Given the description of an element on the screen output the (x, y) to click on. 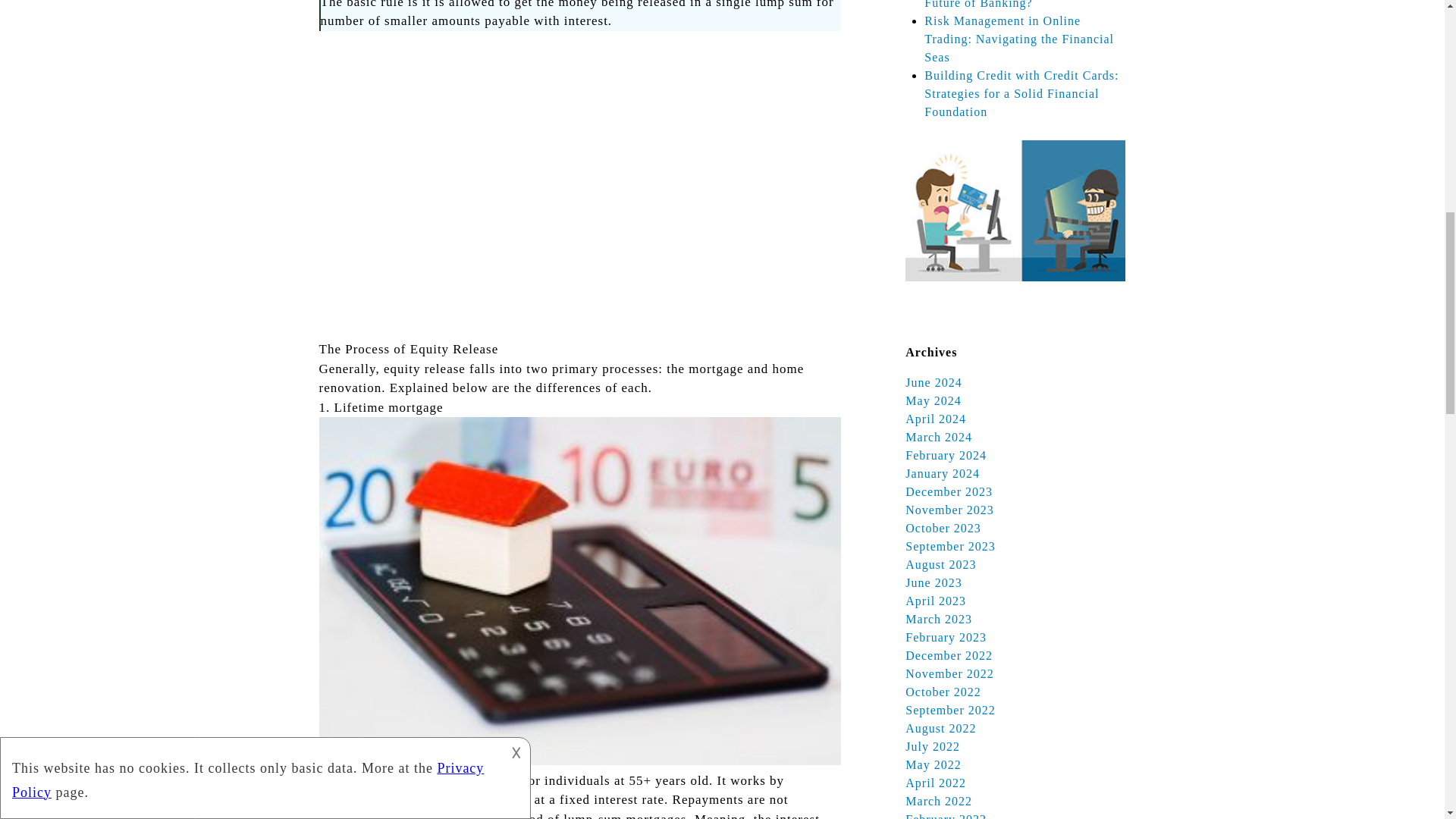
November 2023 (949, 509)
March 2024 (938, 436)
January 2024 (942, 472)
March 2023 (938, 618)
February 2023 (946, 636)
June 2024 (932, 382)
September 2023 (949, 545)
October 2023 (943, 527)
December 2023 (948, 491)
May 2024 (932, 400)
August 2023 (940, 563)
June 2023 (932, 582)
